Given the description of an element on the screen output the (x, y) to click on. 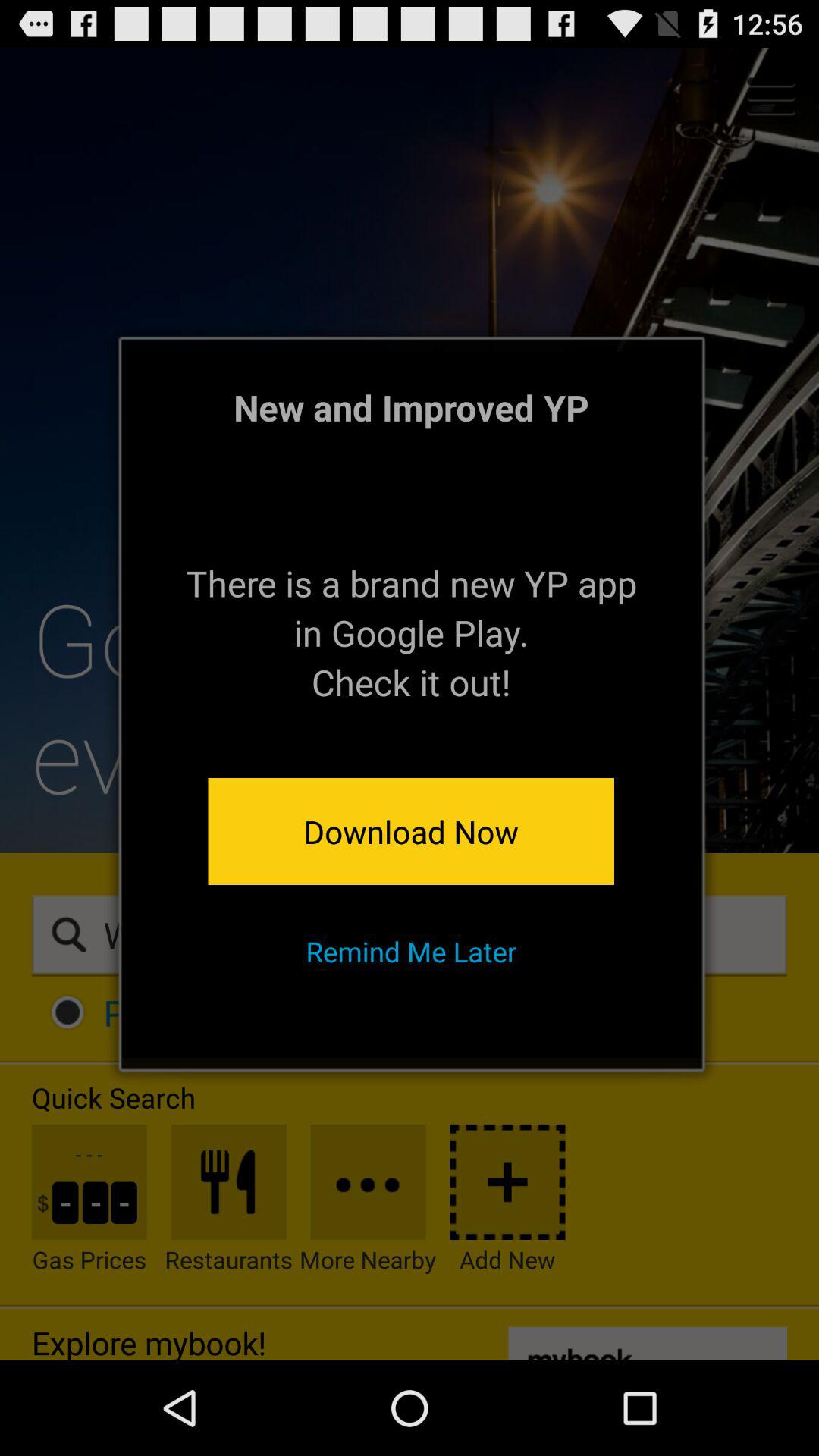
scroll until download now button (411, 831)
